Given the description of an element on the screen output the (x, y) to click on. 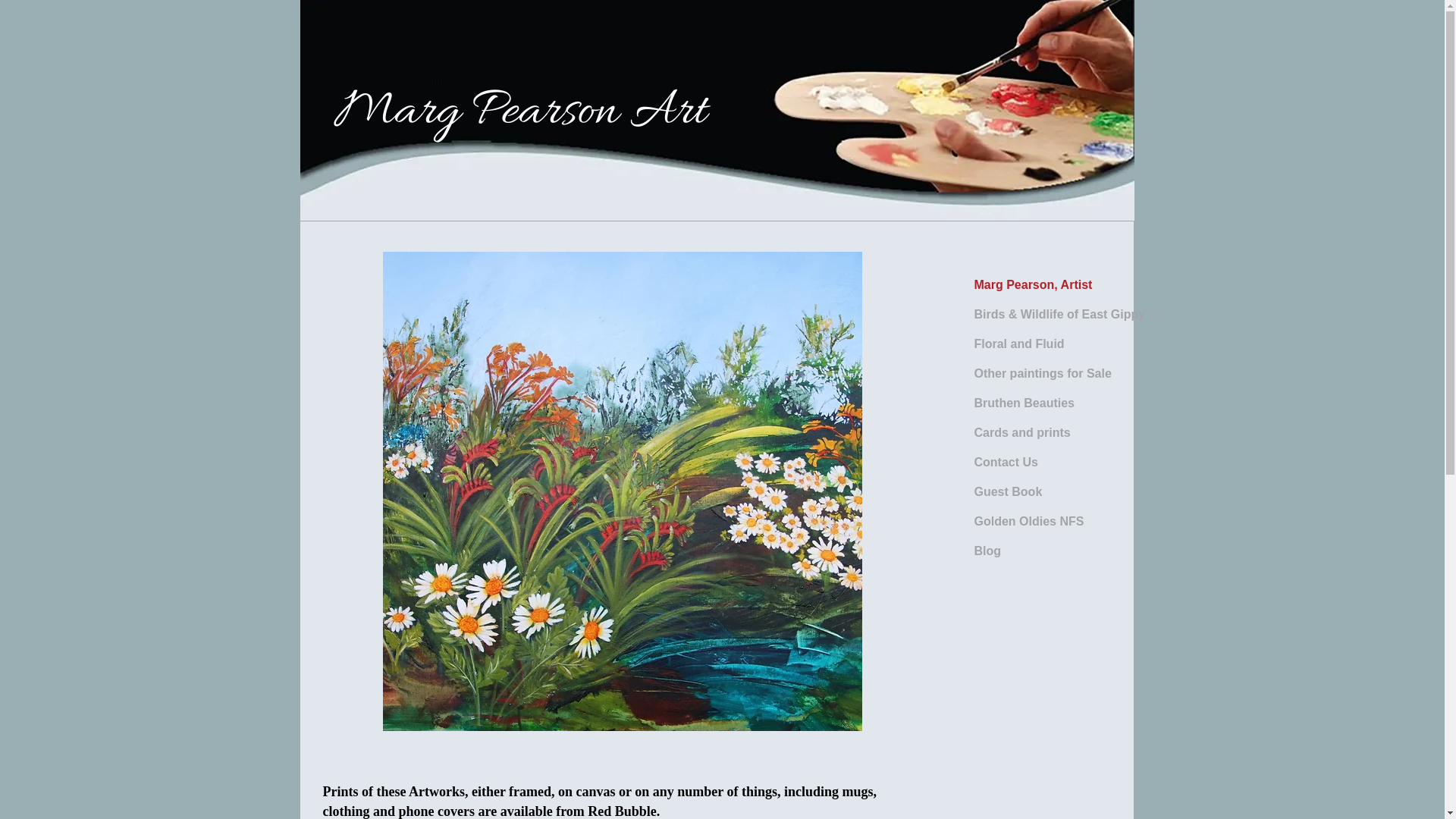
Contact Us Element type: text (1005, 462)
Bruthen Beauties Element type: text (1023, 403)
Blog Element type: text (987, 550)
Birds & Wildlife of East Gippy Element type: text (1059, 314)
Cards and prints Element type: text (1021, 432)
Floral and Fluid Element type: text (1018, 343)
Golden Oldies NFS Element type: text (1028, 521)
Other paintings for Sale Element type: text (1042, 373)
Guest Book Element type: text (1007, 491)
Marg Pearson, Artist Element type: text (1032, 284)
